Given the description of an element on the screen output the (x, y) to click on. 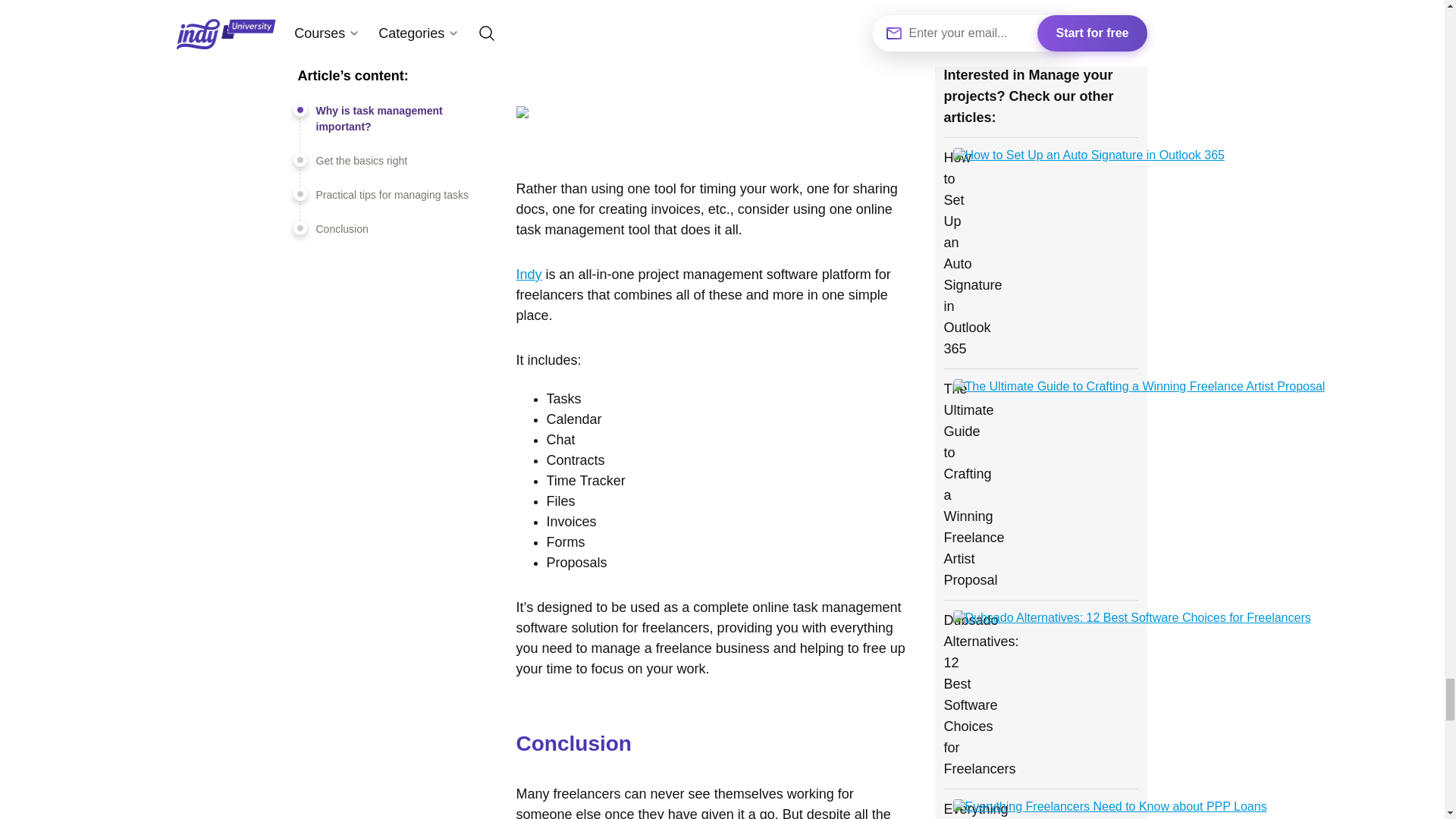
Indy (528, 273)
